Given the description of an element on the screen output the (x, y) to click on. 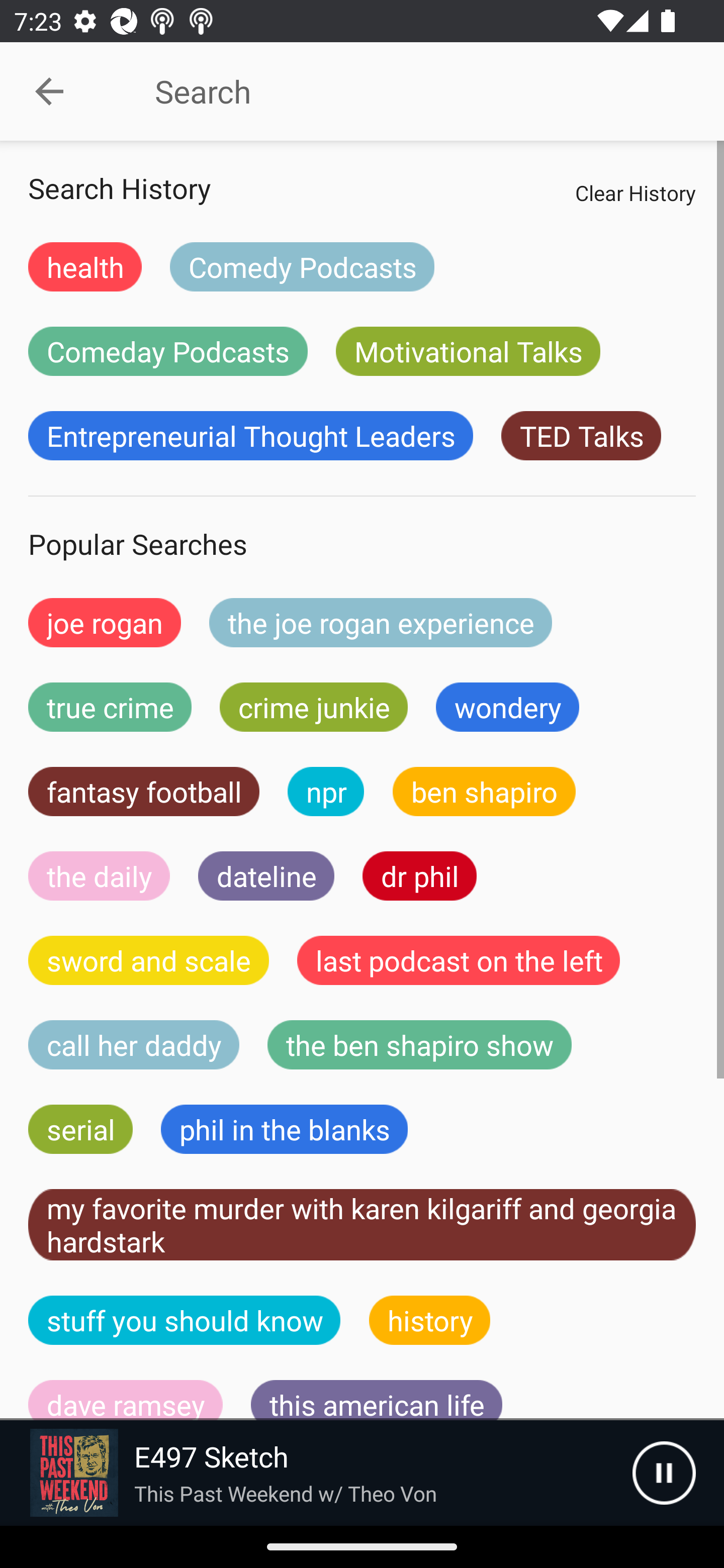
Collapse (49, 91)
Search (407, 91)
Clear History (634, 192)
health (84, 266)
Comedy Podcasts (302, 266)
Comeday Podcasts (167, 351)
Motivational Talks (467, 351)
Entrepreneurial Thought Leaders (250, 435)
TED Talks (581, 435)
joe rogan (104, 622)
the joe rogan experience (380, 622)
true crime (109, 707)
crime junkie (313, 707)
wondery (507, 707)
fantasy football (143, 791)
npr (325, 791)
ben shapiro (483, 791)
the daily (99, 875)
dateline (266, 875)
dr phil (419, 875)
sword and scale (148, 960)
last podcast on the left (458, 960)
call her daddy (133, 1044)
the ben shapiro show (419, 1044)
serial (80, 1128)
phil in the blanks (283, 1128)
stuff you should know (184, 1320)
history (429, 1320)
dave ramsey (125, 1399)
this american life (376, 1399)
Picture E497 Sketch This Past Weekend w/ Theo Von (316, 1472)
Pause (663, 1472)
